Given the description of an element on the screen output the (x, y) to click on. 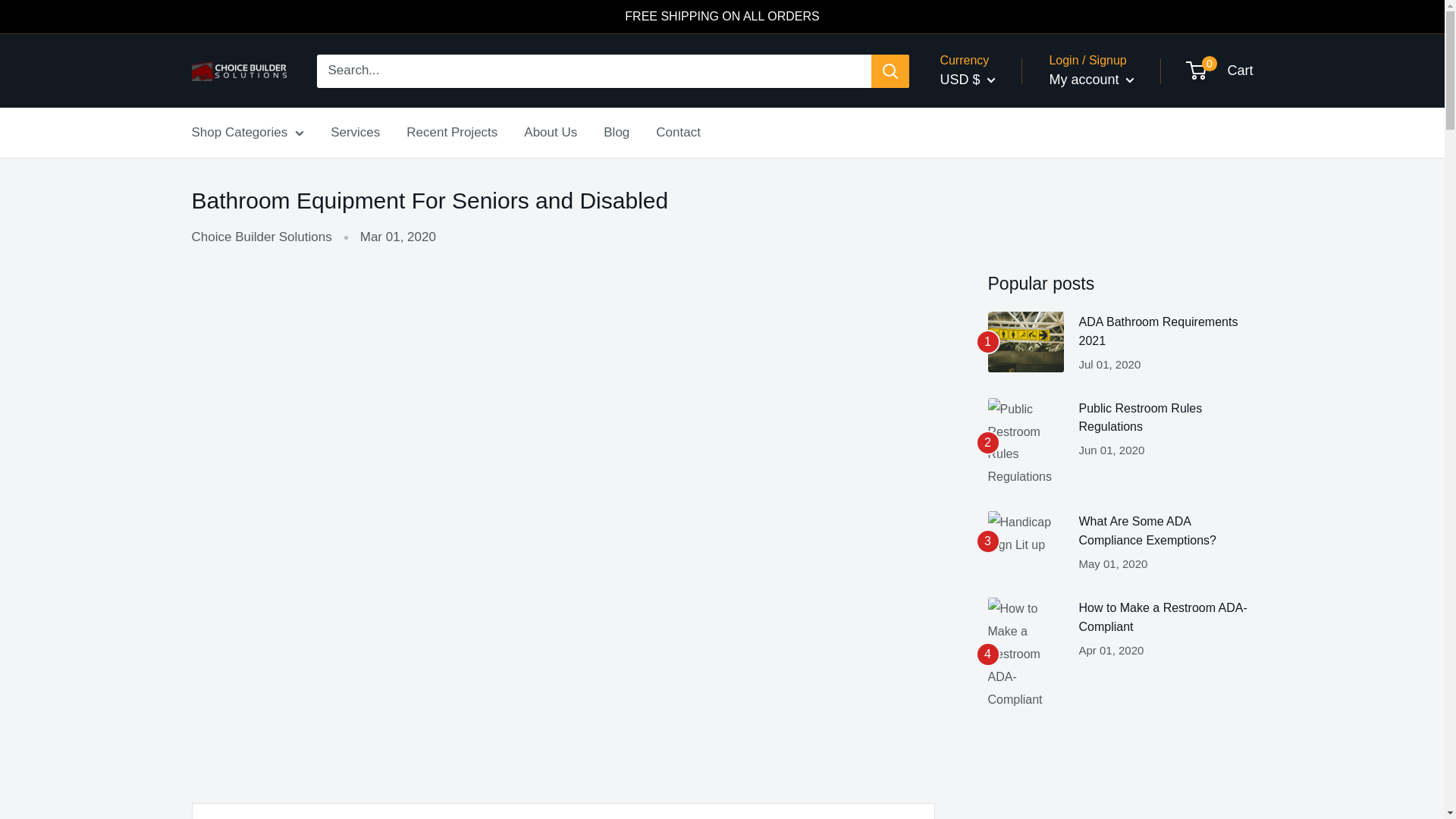
CAD (979, 125)
